Given the description of an element on the screen output the (x, y) to click on. 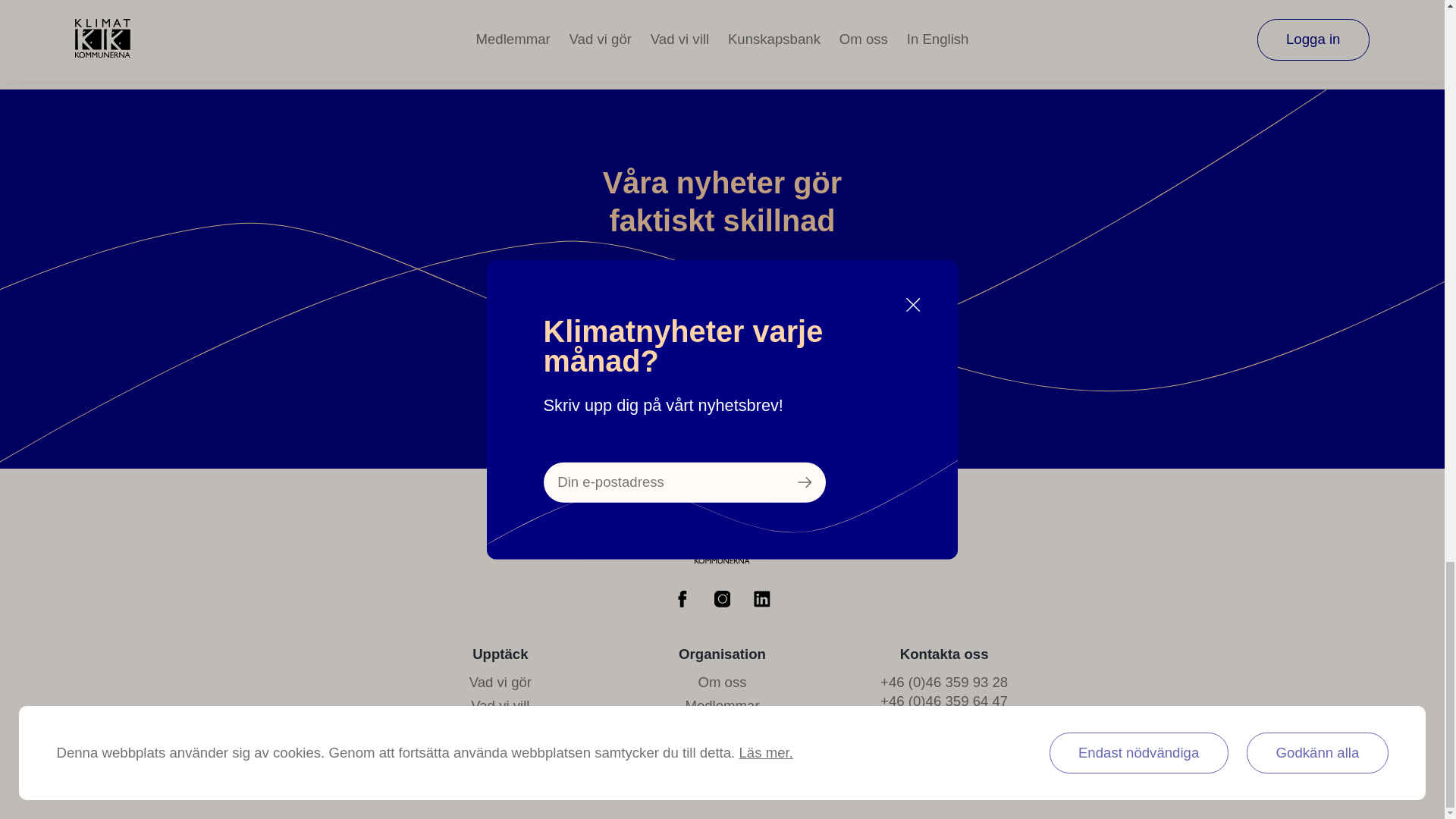
Om oss (721, 682)
Medlemmar (721, 705)
Vad vi vill (499, 705)
Maila oss (944, 724)
Nyheter (500, 729)
